Given the description of an element on the screen output the (x, y) to click on. 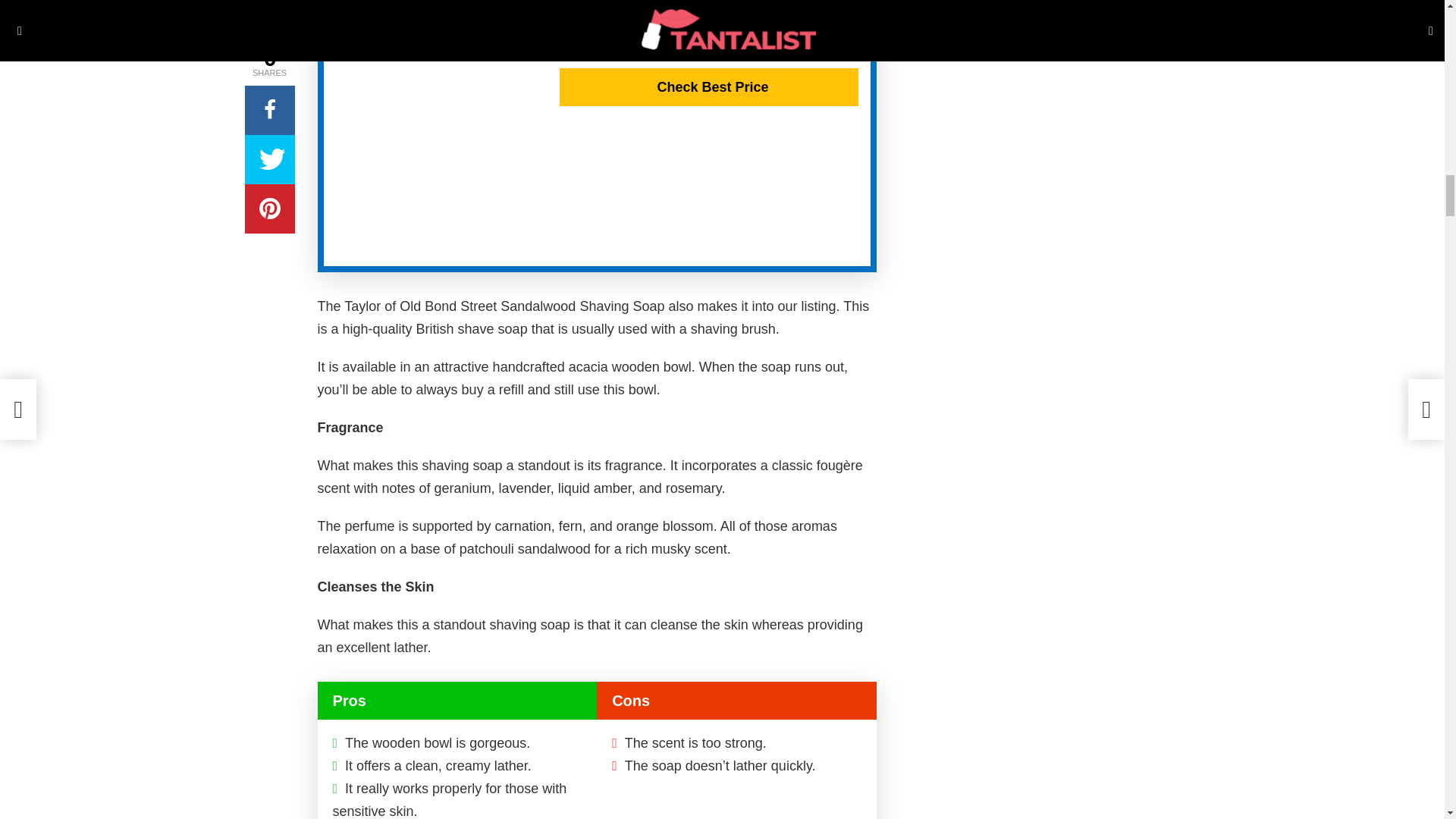
Check Best Price (709, 86)
Taylor of Old Bond Street Sandalwood Shaving Soap (596, 16)
